Given the description of an element on the screen output the (x, y) to click on. 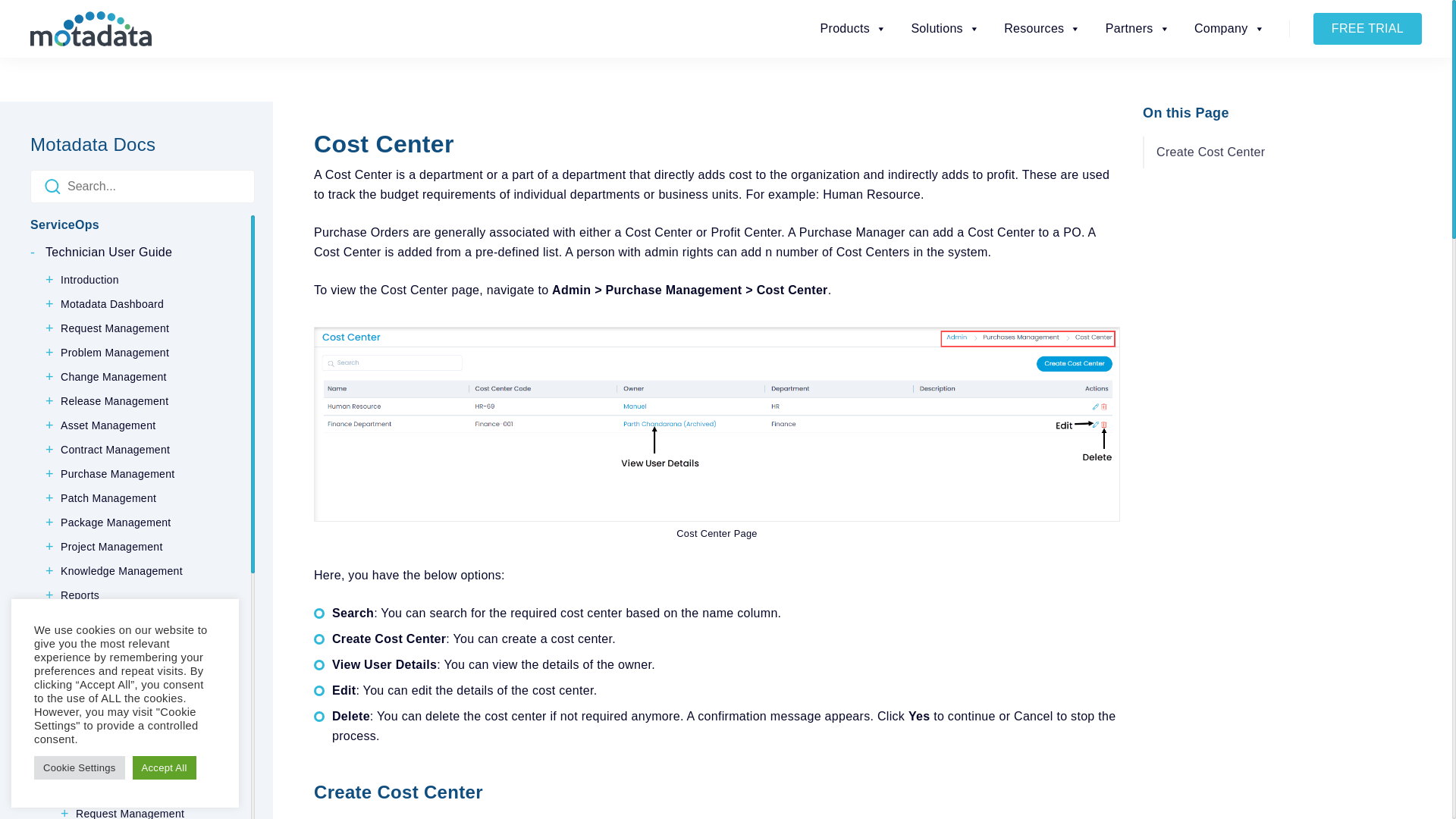
Create Cost Center (1251, 152)
Solutions (944, 28)
Resources (1042, 28)
Products (853, 28)
